Given the description of an element on the screen output the (x, y) to click on. 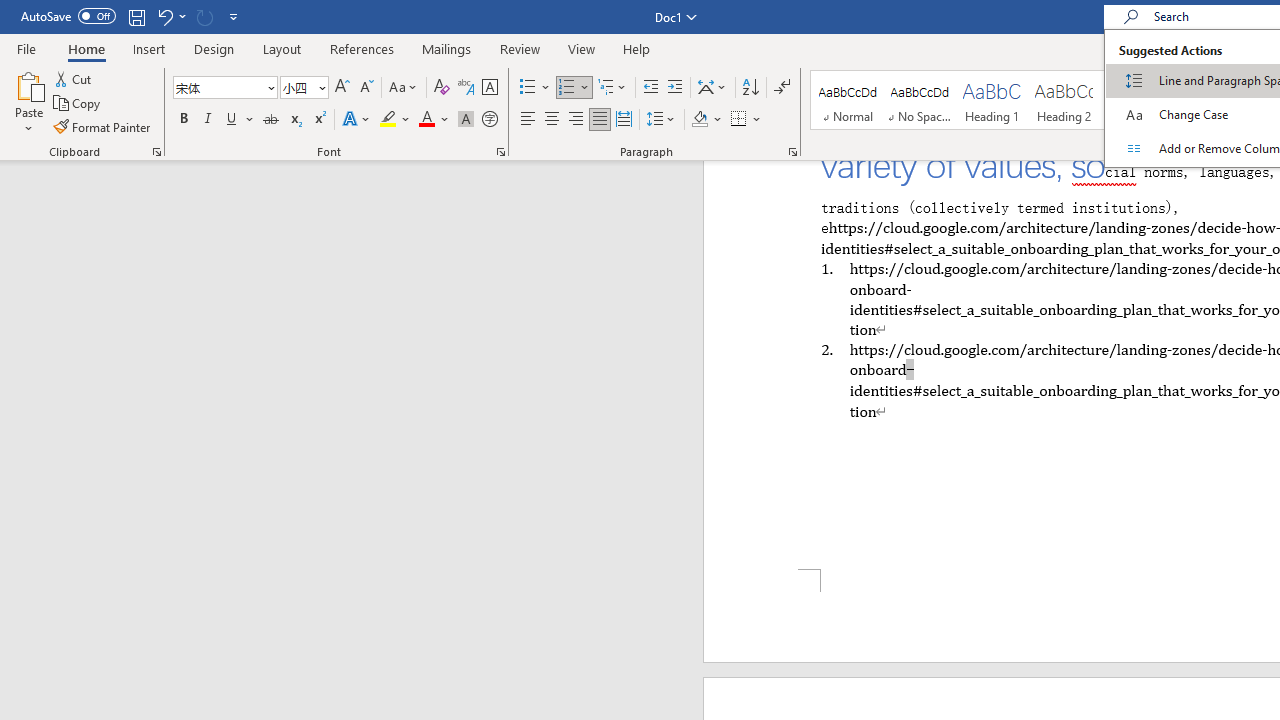
Paragraph... (792, 151)
Format Painter (103, 126)
Insert (149, 48)
Borders (746, 119)
Font Color (434, 119)
Help (637, 48)
Cut (73, 78)
System (10, 11)
Character Border (489, 87)
Layout (282, 48)
Font Size (304, 87)
Design (214, 48)
Change Case (404, 87)
Decrease Indent (650, 87)
Phonetic Guide... (465, 87)
